Given the description of an element on the screen output the (x, y) to click on. 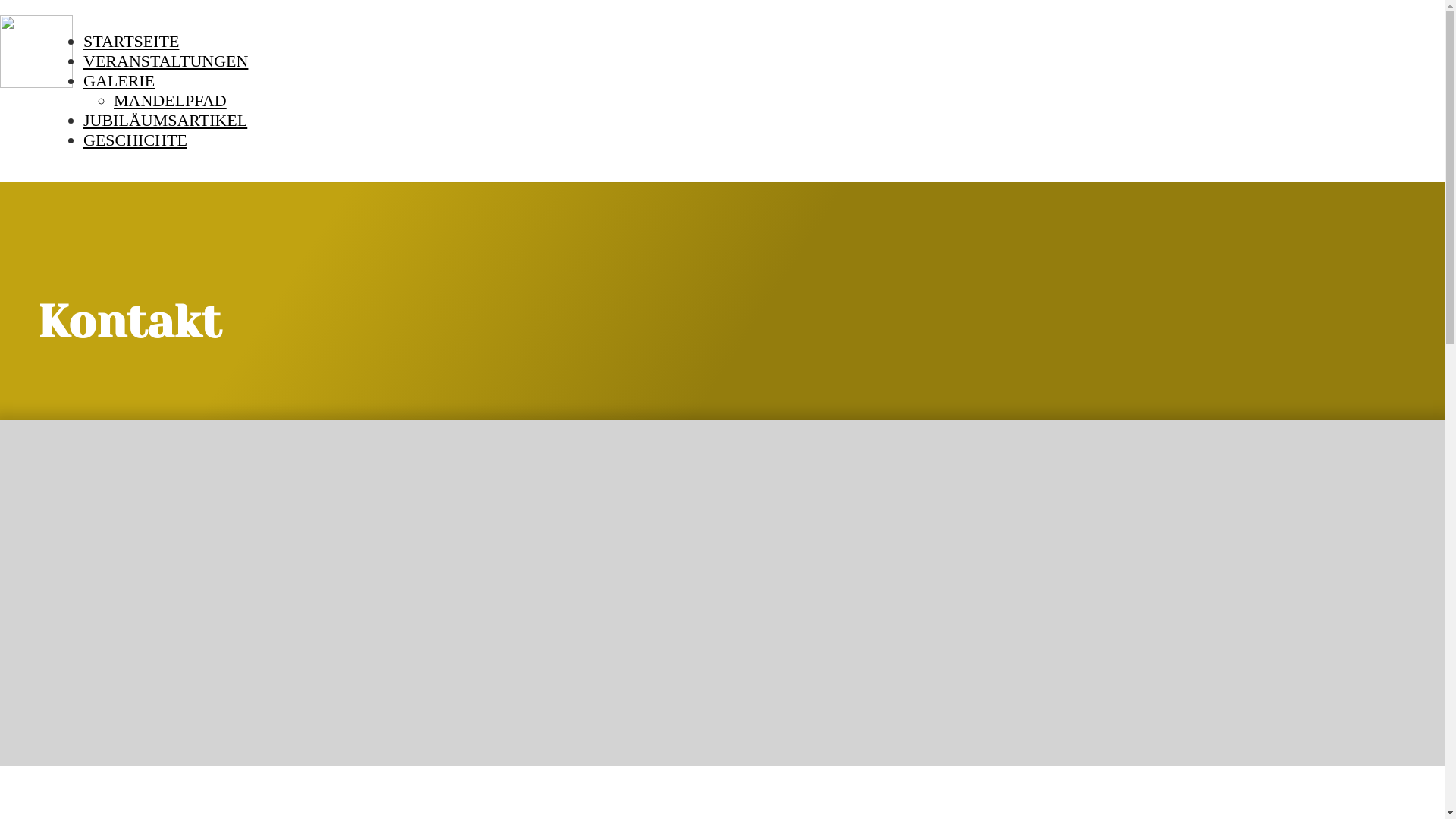
GESCHICHTE Element type: text (135, 139)
VERANSTALTUNGEN Element type: text (165, 60)
MANDELPFAD Element type: text (169, 100)
GALERIE Element type: text (118, 80)
STARTSEITE Element type: text (130, 40)
